Given the description of an element on the screen output the (x, y) to click on. 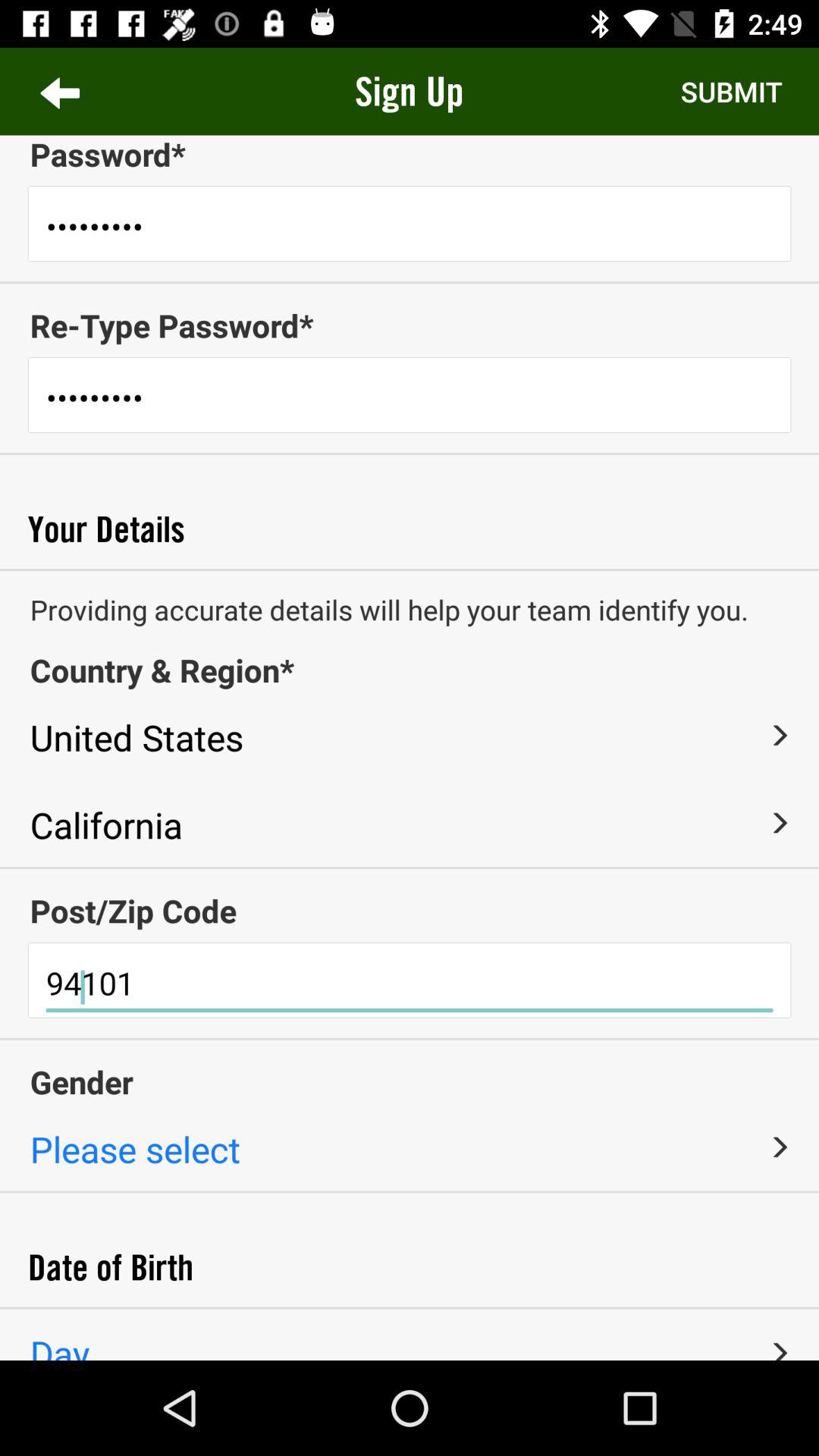
click the icon next to the california (779, 822)
